Given the description of an element on the screen output the (x, y) to click on. 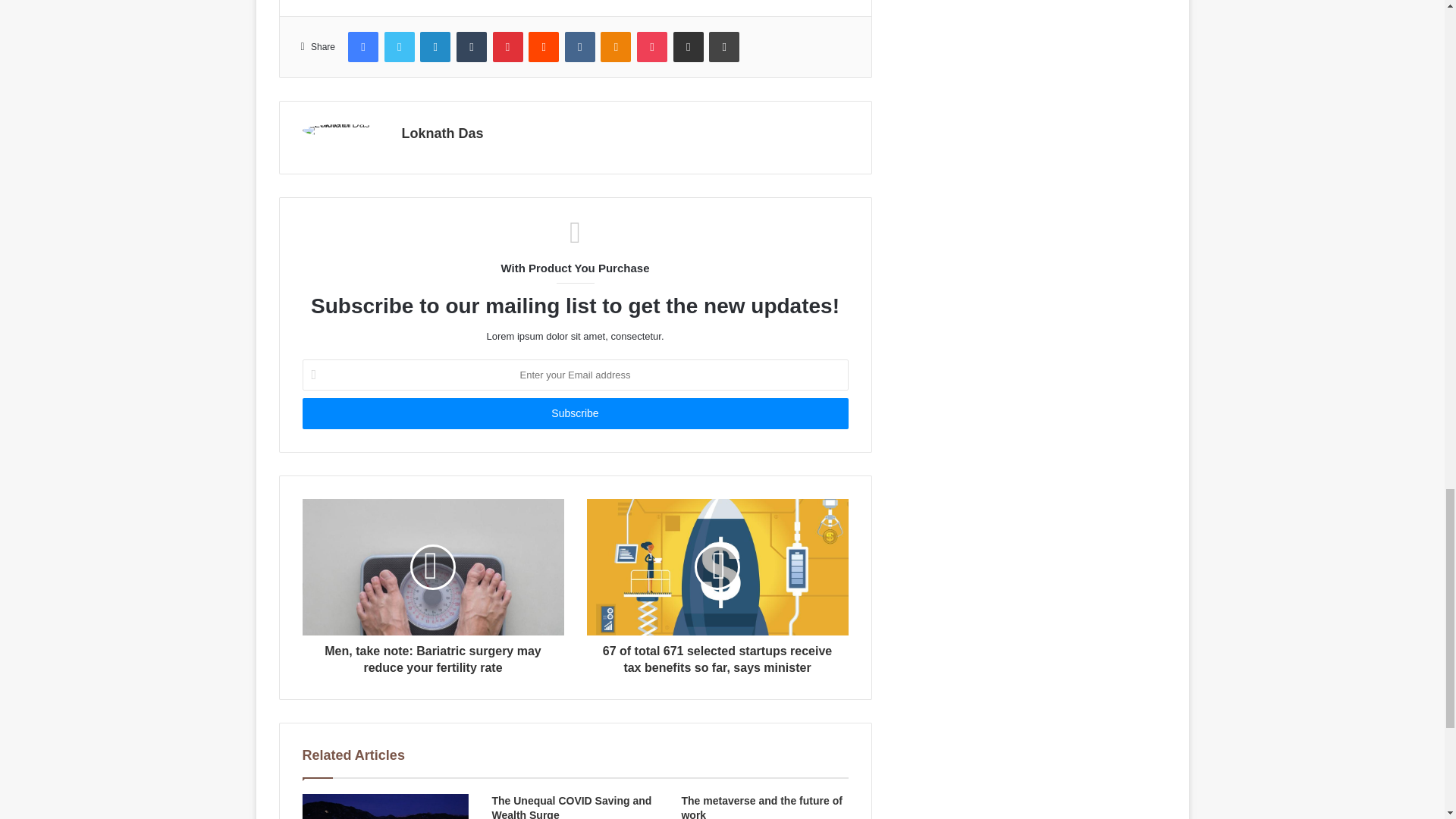
Subscribe (574, 413)
